Given the description of an element on the screen output the (x, y) to click on. 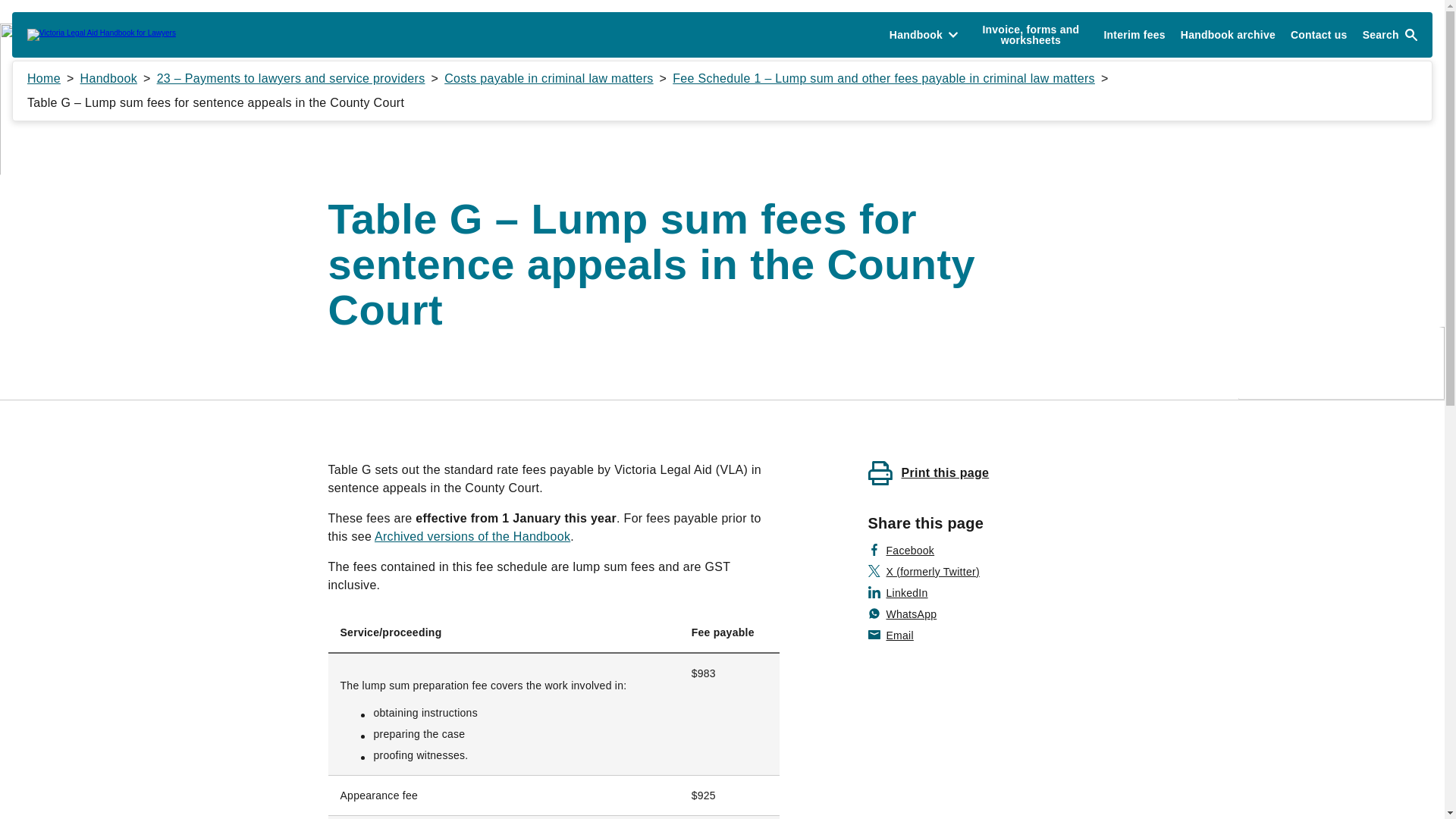
Invoice, forms and worksheets (1030, 34)
Archived versions of the Handbook (472, 535)
Facebook (900, 549)
Interim fees (1134, 34)
Costs payable in criminal law matters (548, 78)
Print this page (927, 473)
Handbook archive (1227, 34)
WhatsApp (901, 613)
Email (889, 635)
LinkedIn (897, 592)
